Given the description of an element on the screen output the (x, y) to click on. 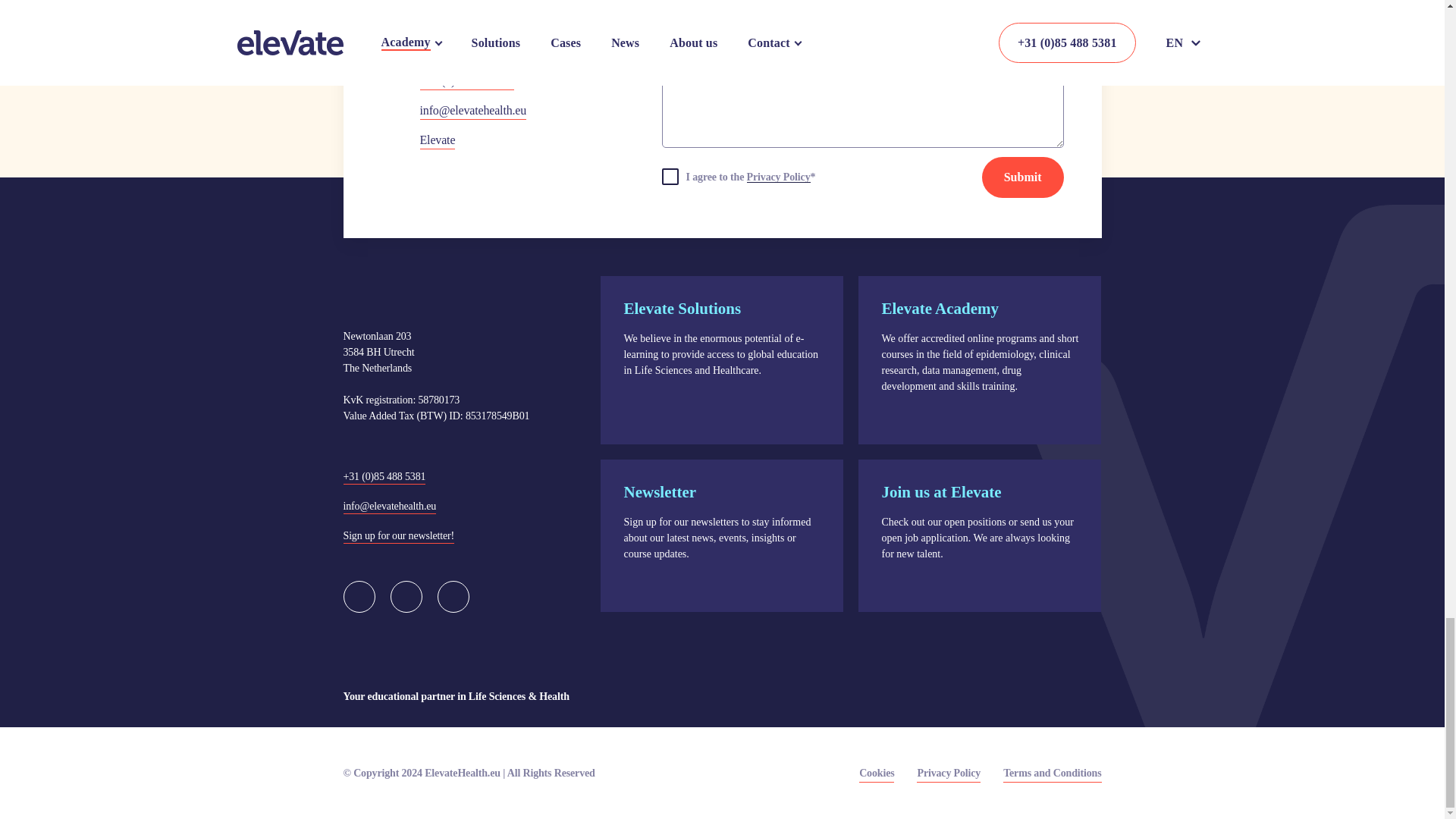
Privacy Policy (778, 175)
Submit (1022, 177)
Elevate (425, 139)
Submit (1022, 177)
